Given the description of an element on the screen output the (x, y) to click on. 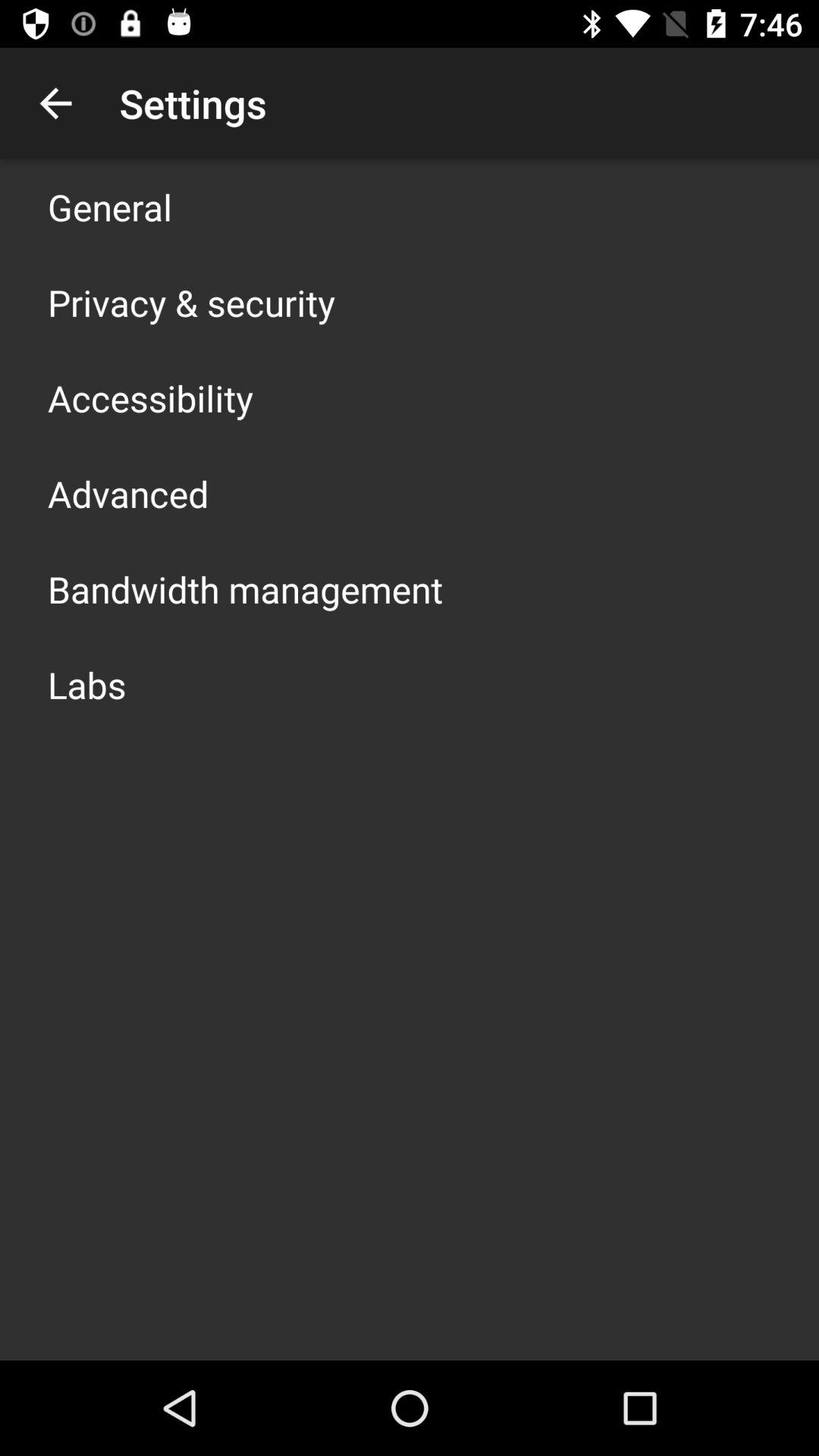
press app below bandwidth management (86, 684)
